Given the description of an element on the screen output the (x, y) to click on. 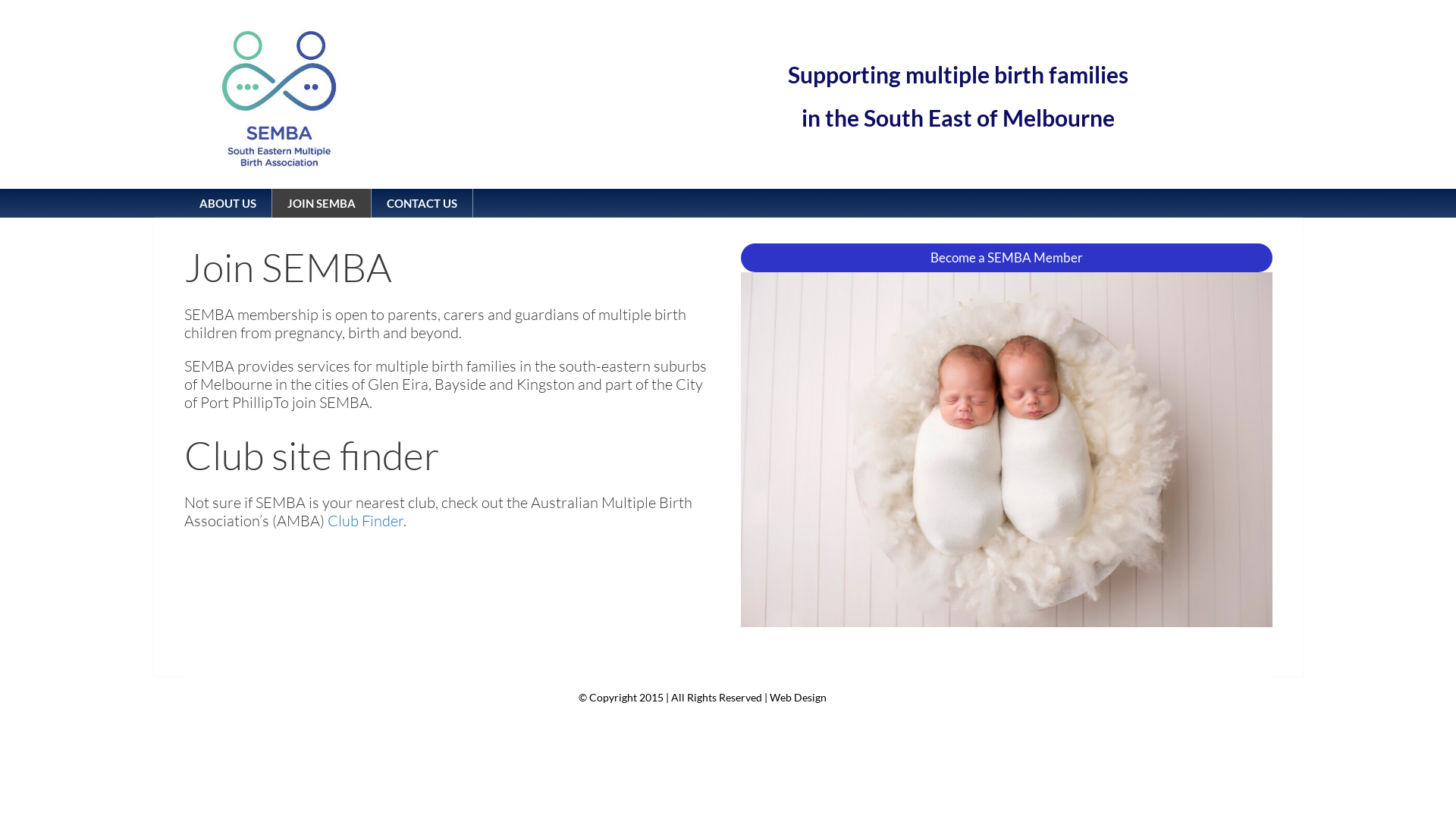
Become a SEMBA Member Element type: text (1006, 258)
ABOUT US Element type: text (226, 202)
JOIN SEMBA Element type: text (320, 202)
CONTACT US Element type: text (421, 202)
Club Finder Element type: text (365, 520)
Web Design Element type: text (796, 696)
